Given the description of an element on the screen output the (x, y) to click on. 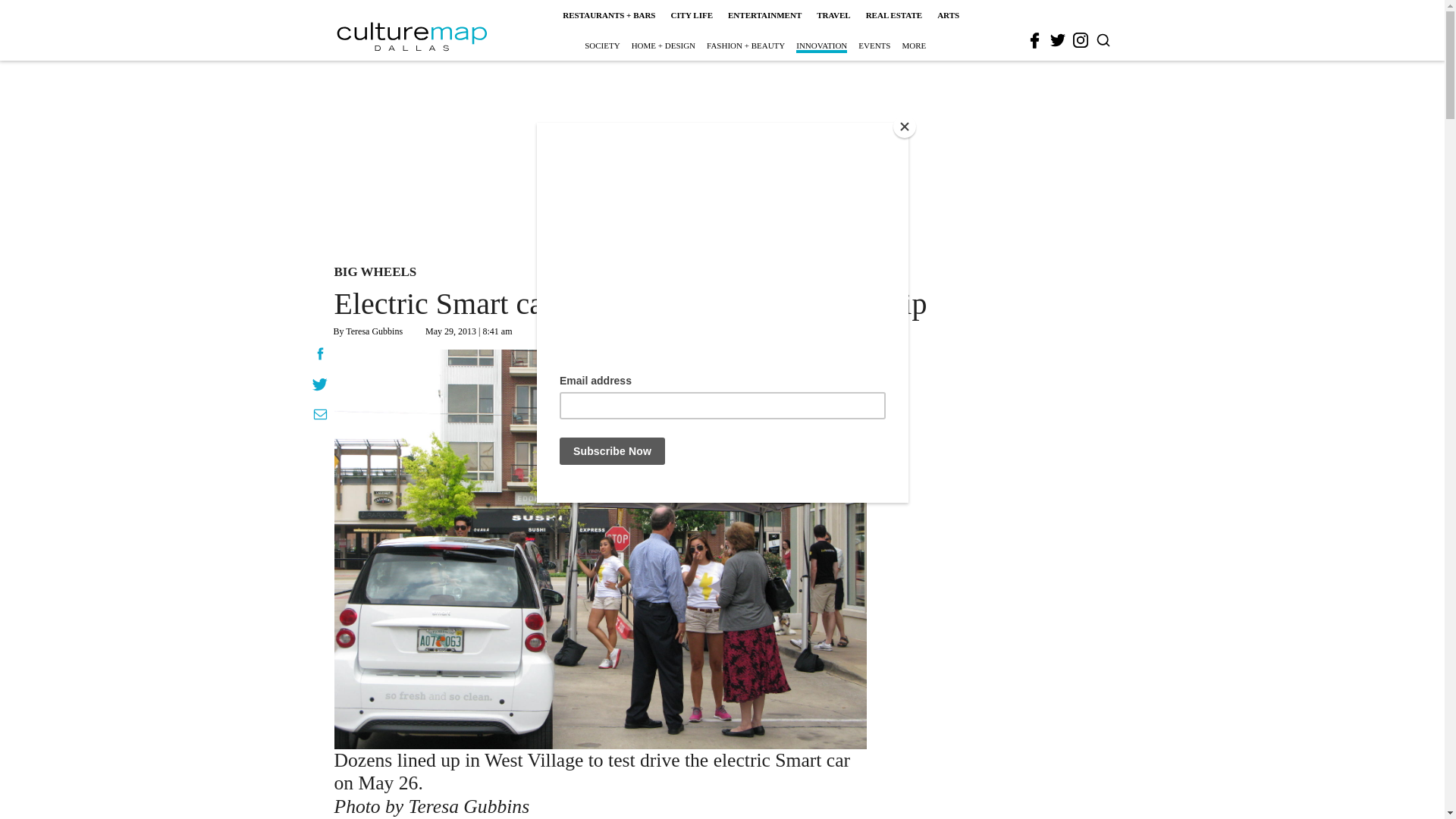
3rd party ad content (1011, 564)
3rd party ad content (721, 160)
